Given the description of an element on the screen output the (x, y) to click on. 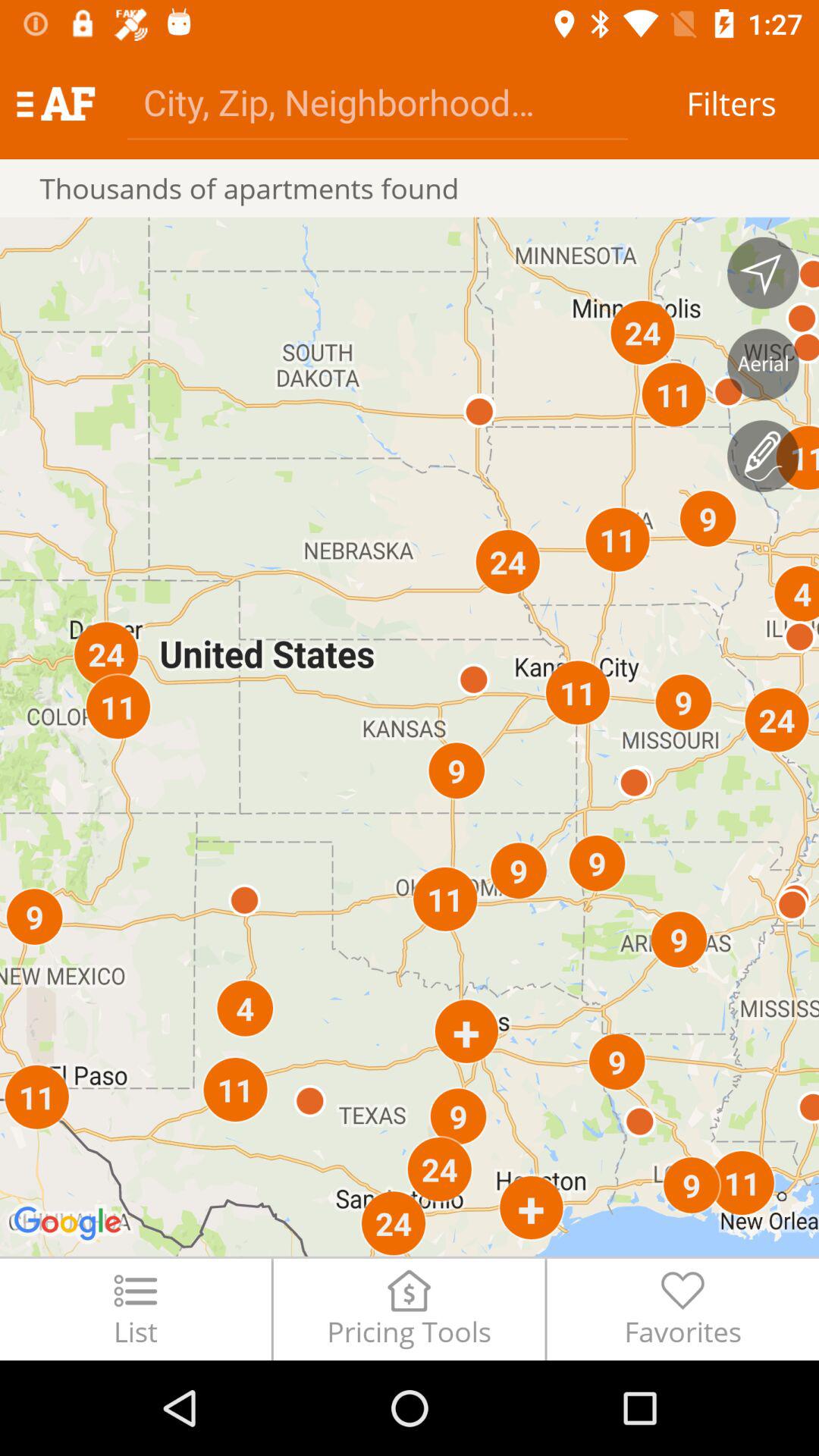
press the item to the left of pricing tools (135, 1309)
